Given the description of an element on the screen output the (x, y) to click on. 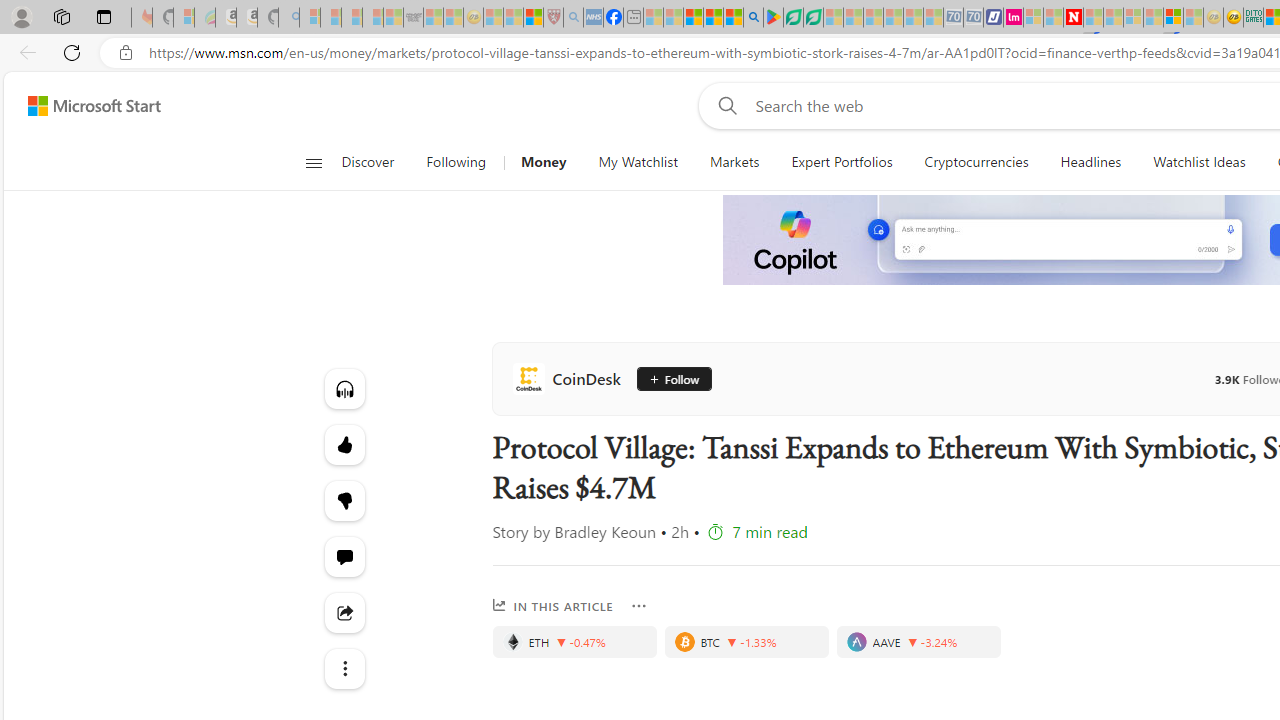
Class: at-item (343, 668)
My Watchlist (637, 162)
CoinDesk (570, 378)
Latest Politics News & Archive | Newsweek.com (1072, 17)
